Given the description of an element on the screen output the (x, y) to click on. 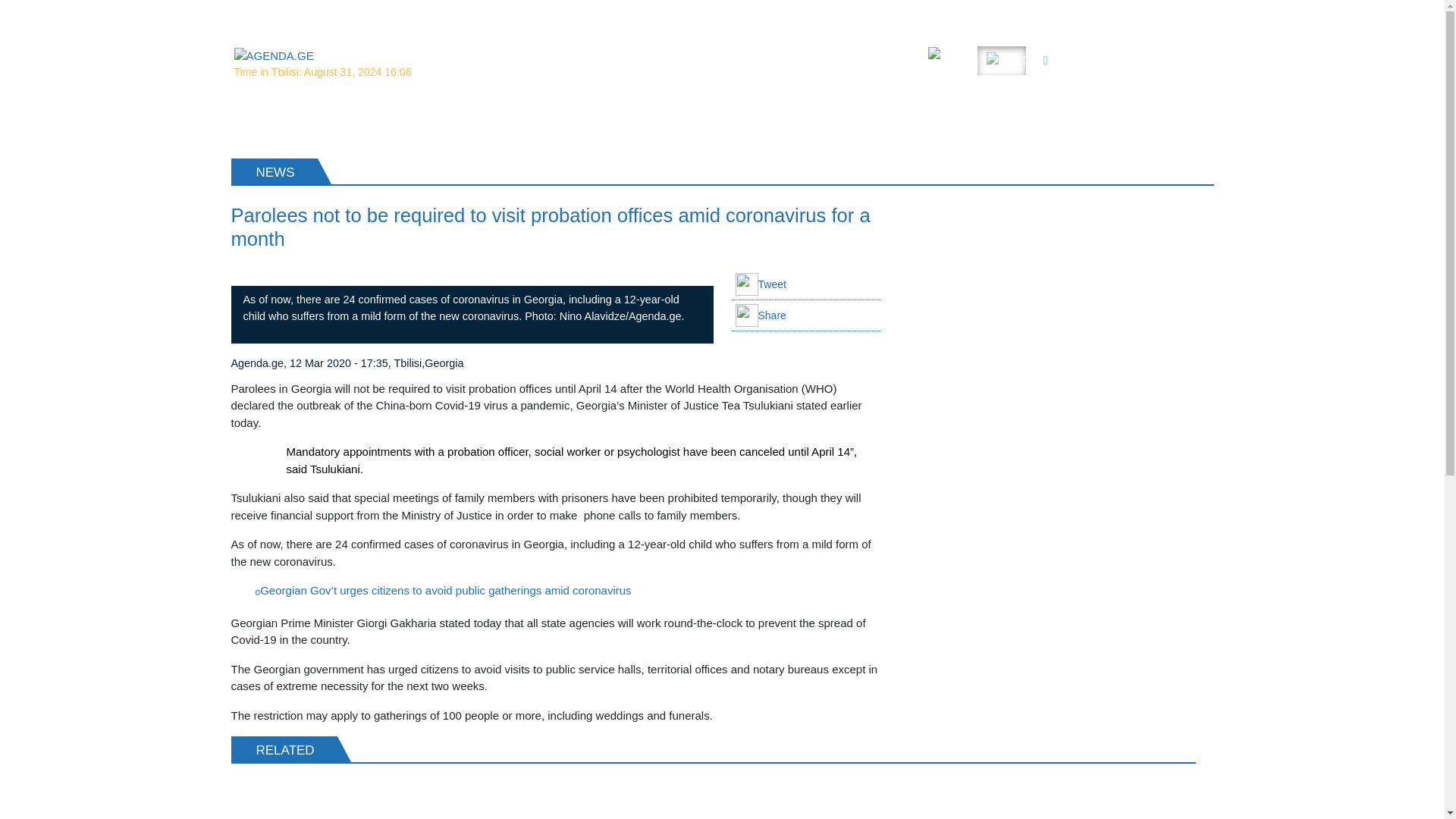
Special Reports (656, 14)
Analysis (571, 14)
Government (751, 14)
Home (512, 14)
NEWS (262, 122)
Infographic (990, 14)
In Pictures (911, 14)
Blogs (1187, 14)
Multimedia (833, 14)
Pressscanner (1116, 14)
